Given the description of an element on the screen output the (x, y) to click on. 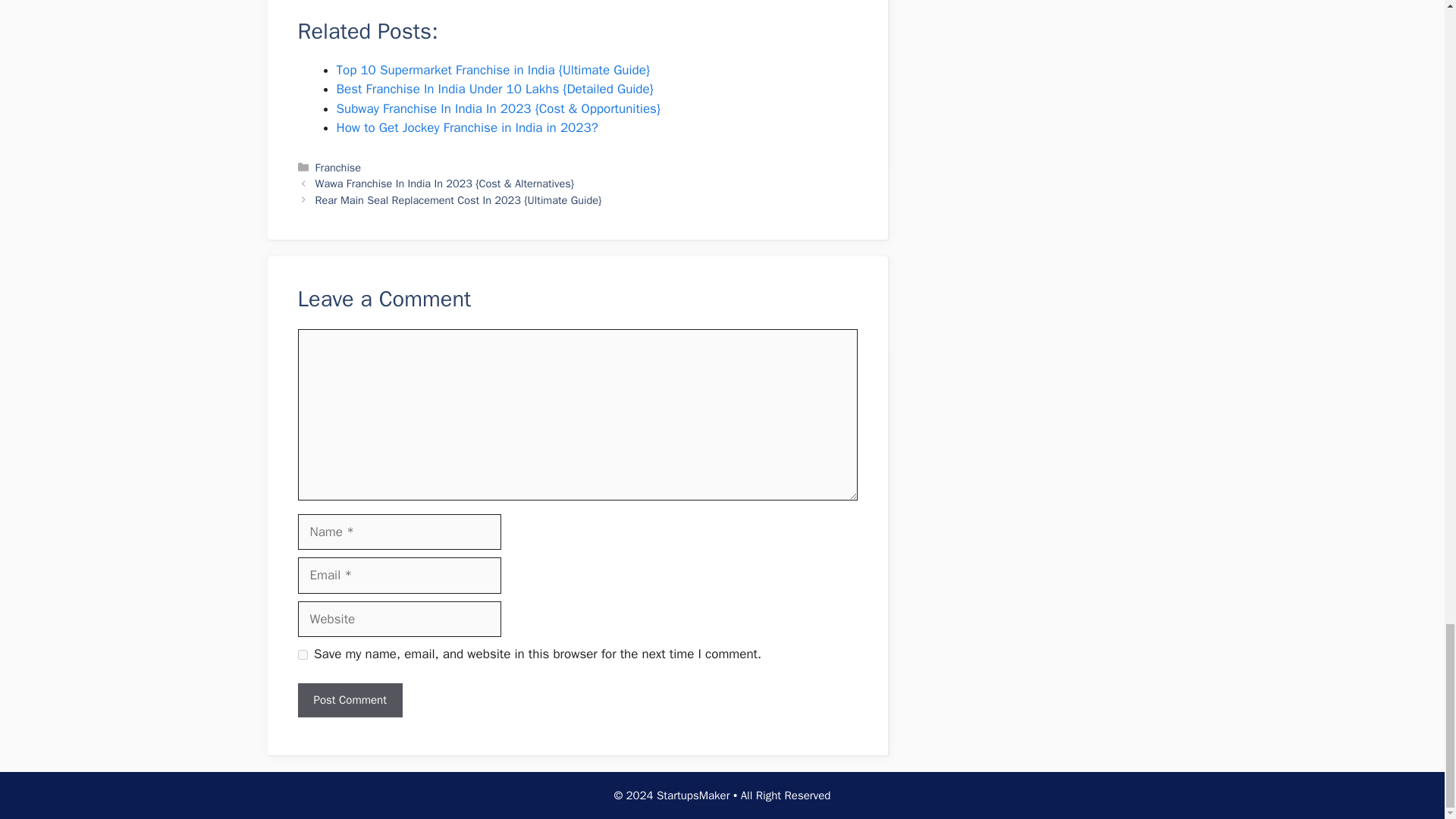
Franchise (338, 167)
How to Get Jockey Franchise in India in 2023? (467, 127)
Post Comment (349, 700)
Post Comment (349, 700)
yes (302, 655)
